Given the description of an element on the screen output the (x, y) to click on. 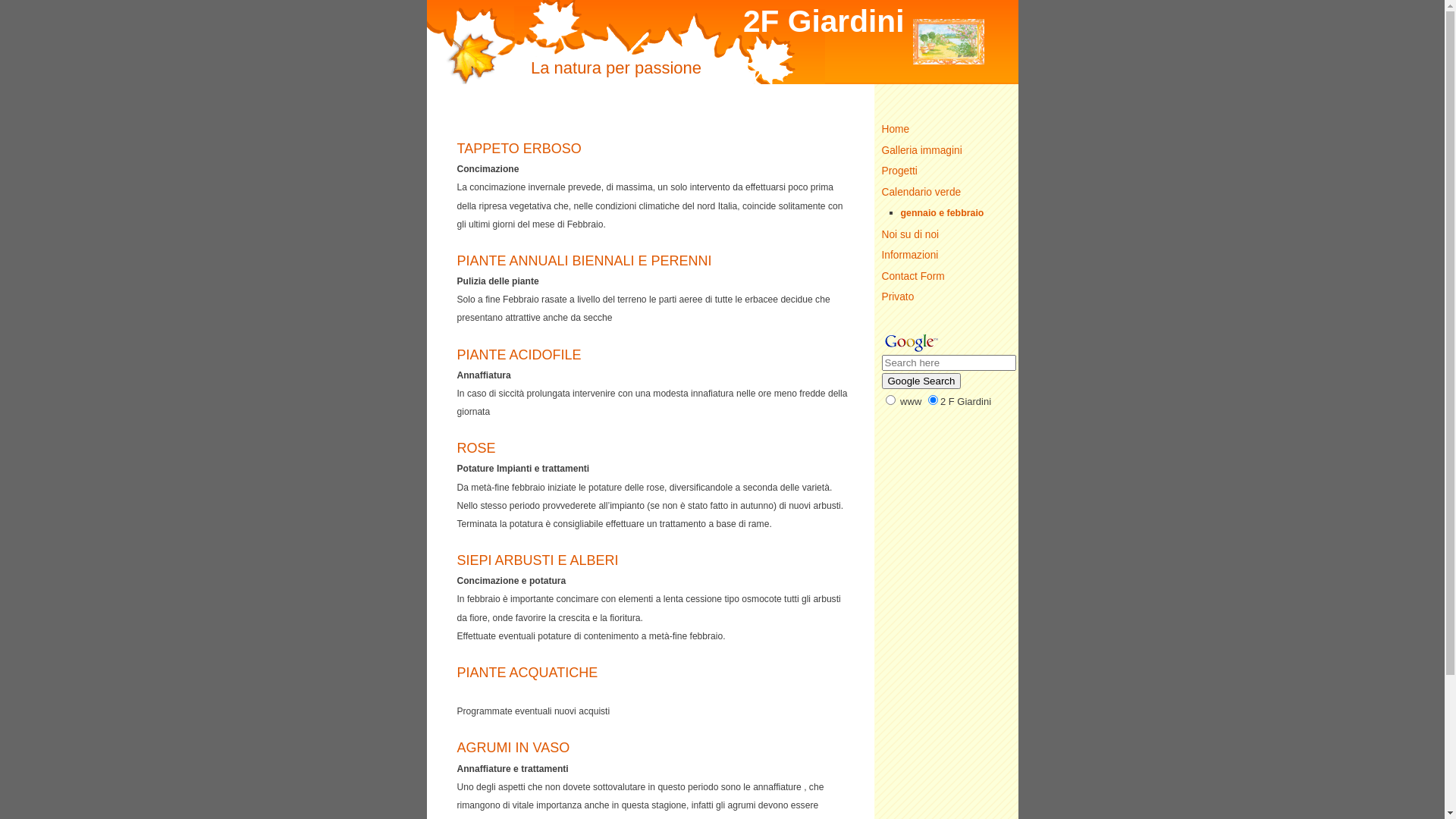
Privato Element type: text (945, 296)
Progetti Element type: text (945, 171)
Google Search Element type: text (920, 381)
gennaio e febbraio Element type: text (959, 213)
Galleria immagini Element type: text (945, 149)
Informazioni Element type: text (945, 255)
Contact Form Element type: text (945, 275)
Calendario verde Element type: text (945, 192)
Noi su di noi Element type: text (945, 234)
Home Element type: text (945, 129)
